Given the description of an element on the screen output the (x, y) to click on. 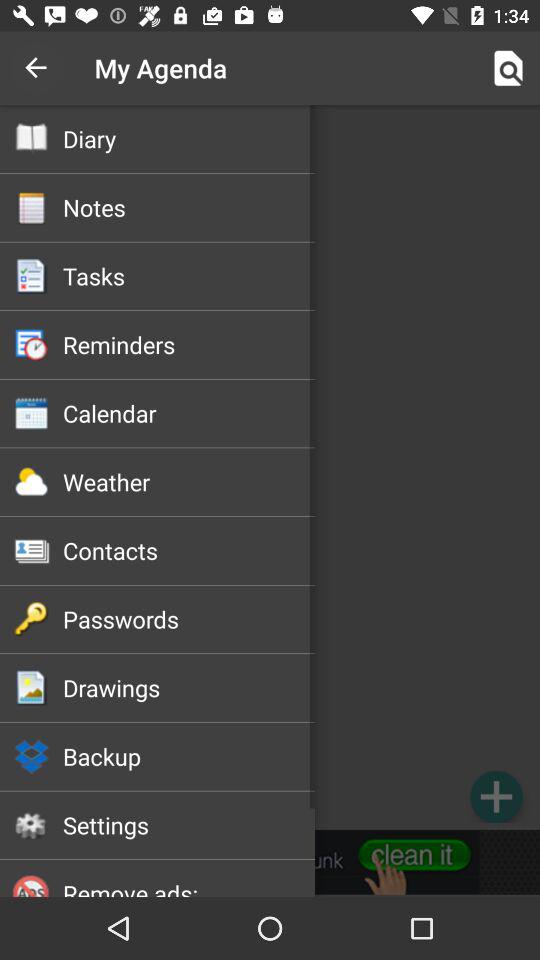
tap item at the bottom right corner (496, 796)
